Given the description of an element on the screen output the (x, y) to click on. 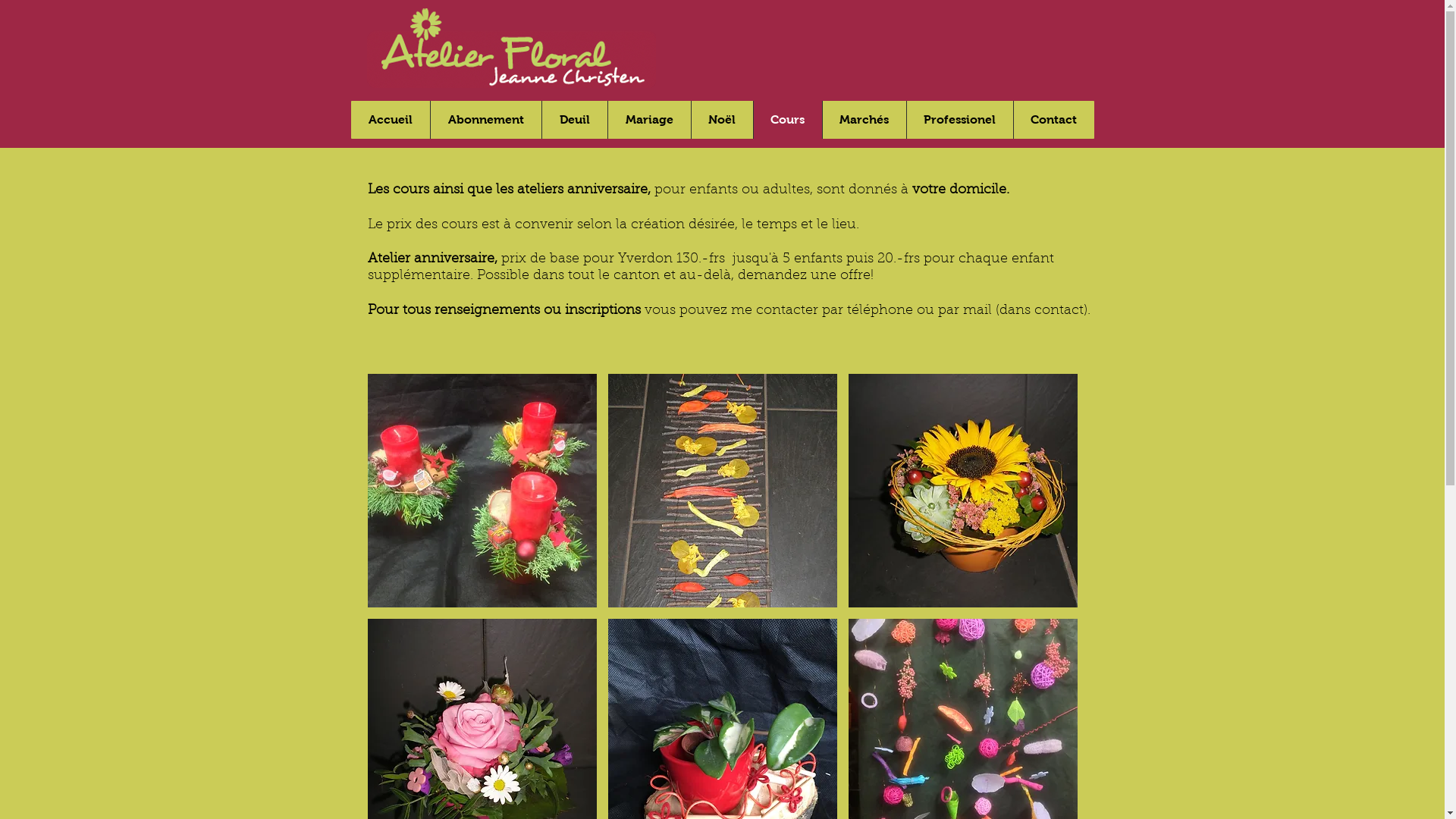
Cours Element type: text (786, 119)
Deuil Element type: text (574, 119)
Mariage Element type: text (648, 119)
Professionel Element type: text (958, 119)
Abonnement Element type: text (484, 119)
Bouton J'aime Facebook Element type: hover (1023, 26)
Accueil Element type: text (389, 119)
Contact Element type: text (1053, 119)
